Given the description of an element on the screen output the (x, y) to click on. 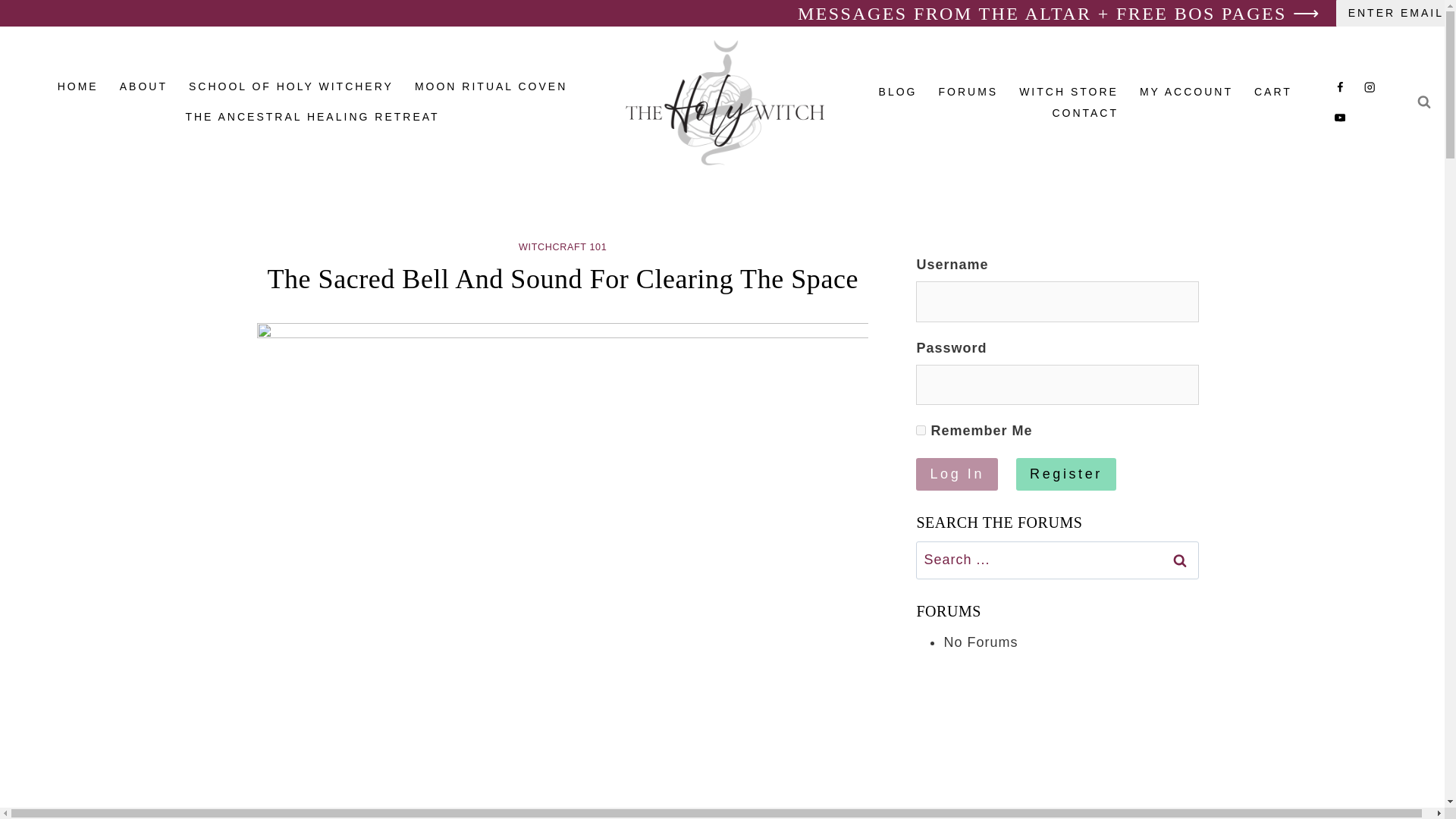
WITCH STORE (1069, 91)
BLOG (897, 91)
forever (920, 429)
CART (1273, 91)
ABOUT (143, 87)
MY ACCOUNT (1186, 91)
Search (1179, 560)
MOON RITUAL COVEN (491, 87)
WITCHCRAFT 101 (562, 246)
FORUMS (968, 91)
